Given the description of an element on the screen output the (x, y) to click on. 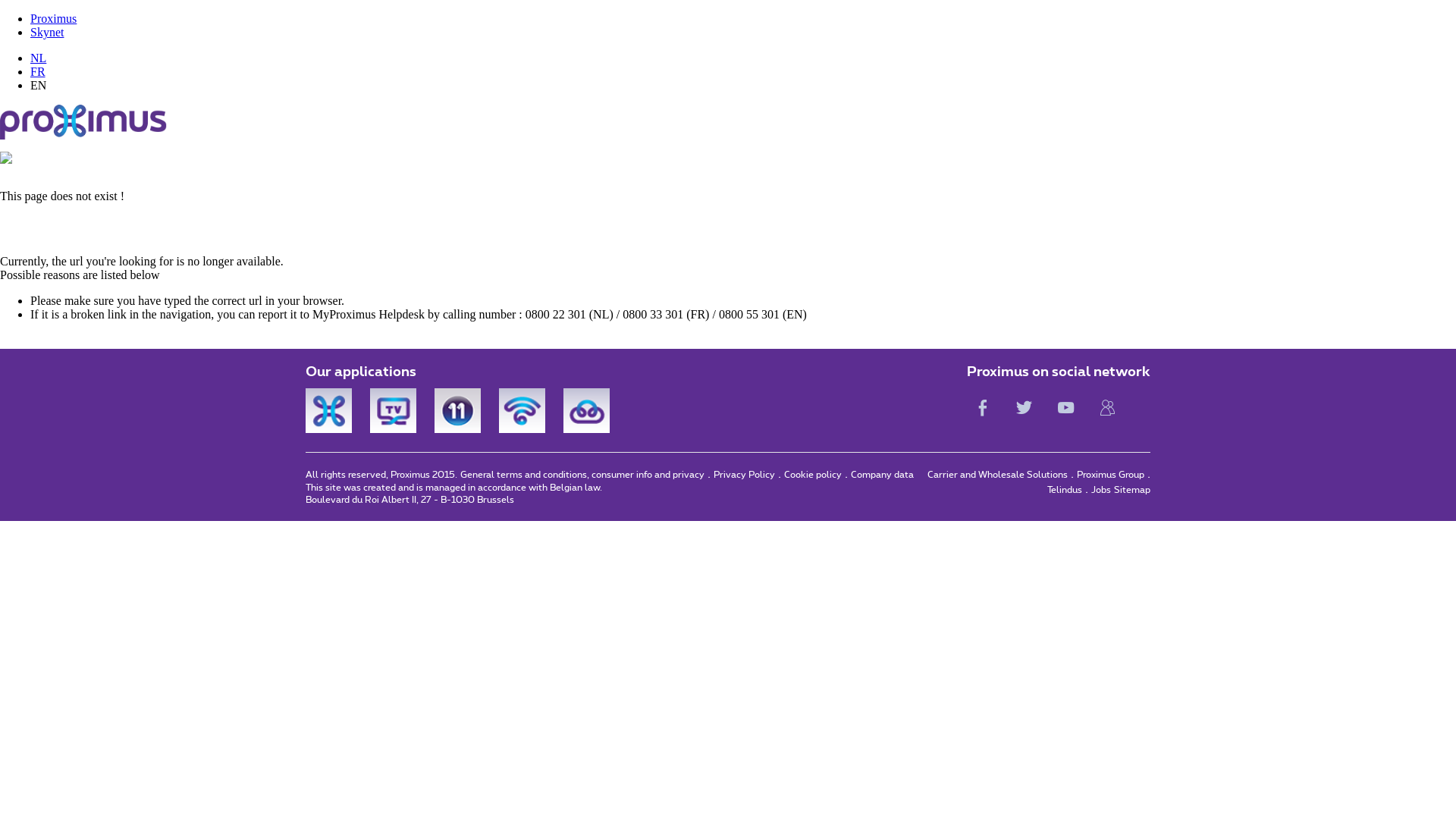
General terms and conditions, consumer info and privacy Element type: text (582, 474)
Privacy Policy Element type: text (744, 474)
Proximus Element type: text (53, 18)
Company data Element type: text (881, 474)
NL Element type: text (38, 57)
Jobs Element type: text (1100, 489)
Sitemap Element type: text (1131, 489)
Cookie policy Element type: text (812, 474)
Proximus Group Element type: text (1110, 474)
FR Element type: text (37, 71)
Telindus Element type: text (1064, 489)
Skynet Element type: text (46, 31)
Carrier and Wholesale Solutions Element type: text (997, 474)
